Given the description of an element on the screen output the (x, y) to click on. 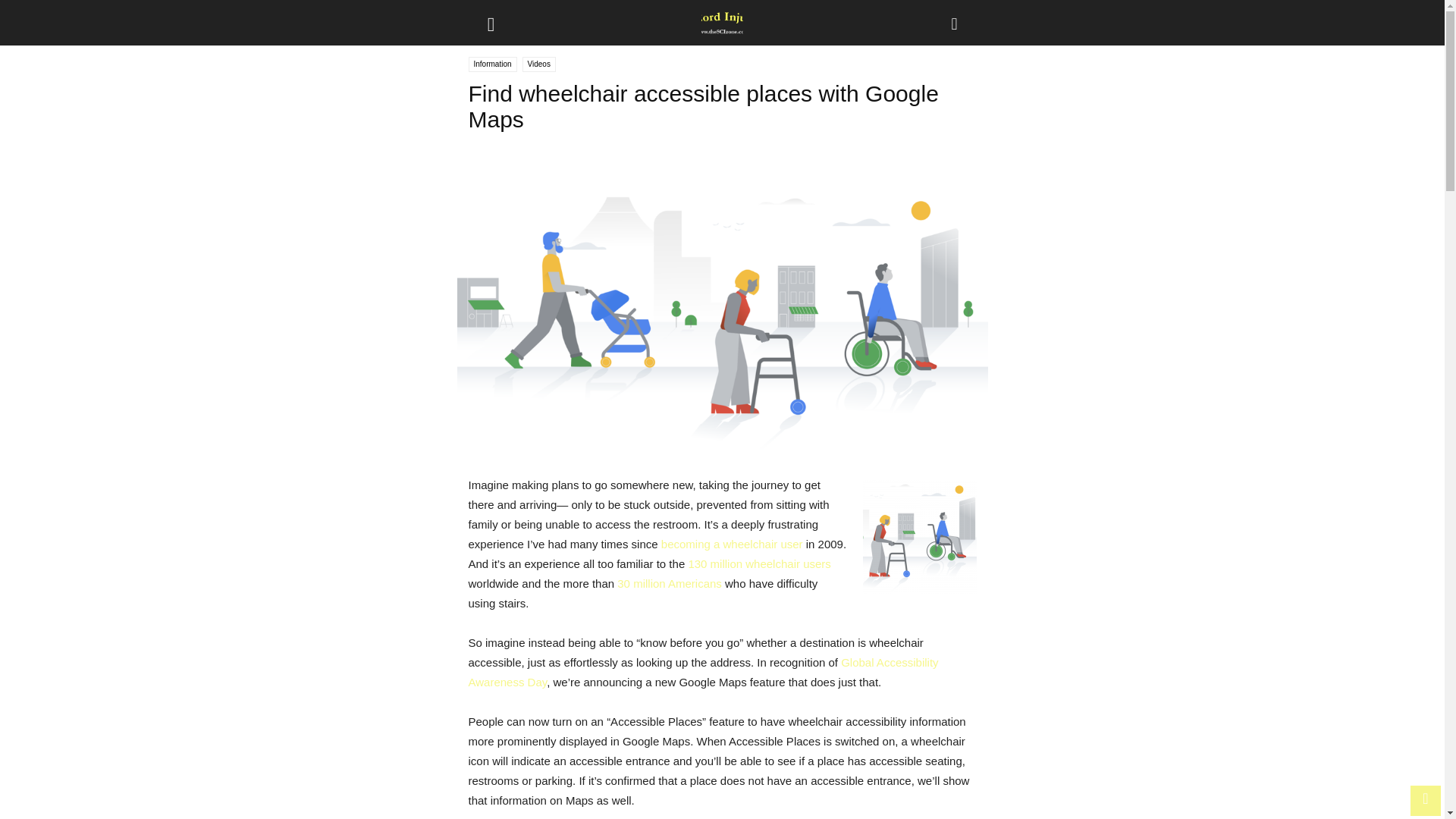
Information (492, 64)
Videos (539, 64)
130 million wheelchair users (758, 563)
The Spinal Cord Injury Zone (722, 22)
The Spinal Cord Injury Zone (721, 22)
30 million Americans (669, 583)
Global Accessibility Awareness Day (703, 672)
becoming a wheelchair user (732, 543)
